Given the description of an element on the screen output the (x, y) to click on. 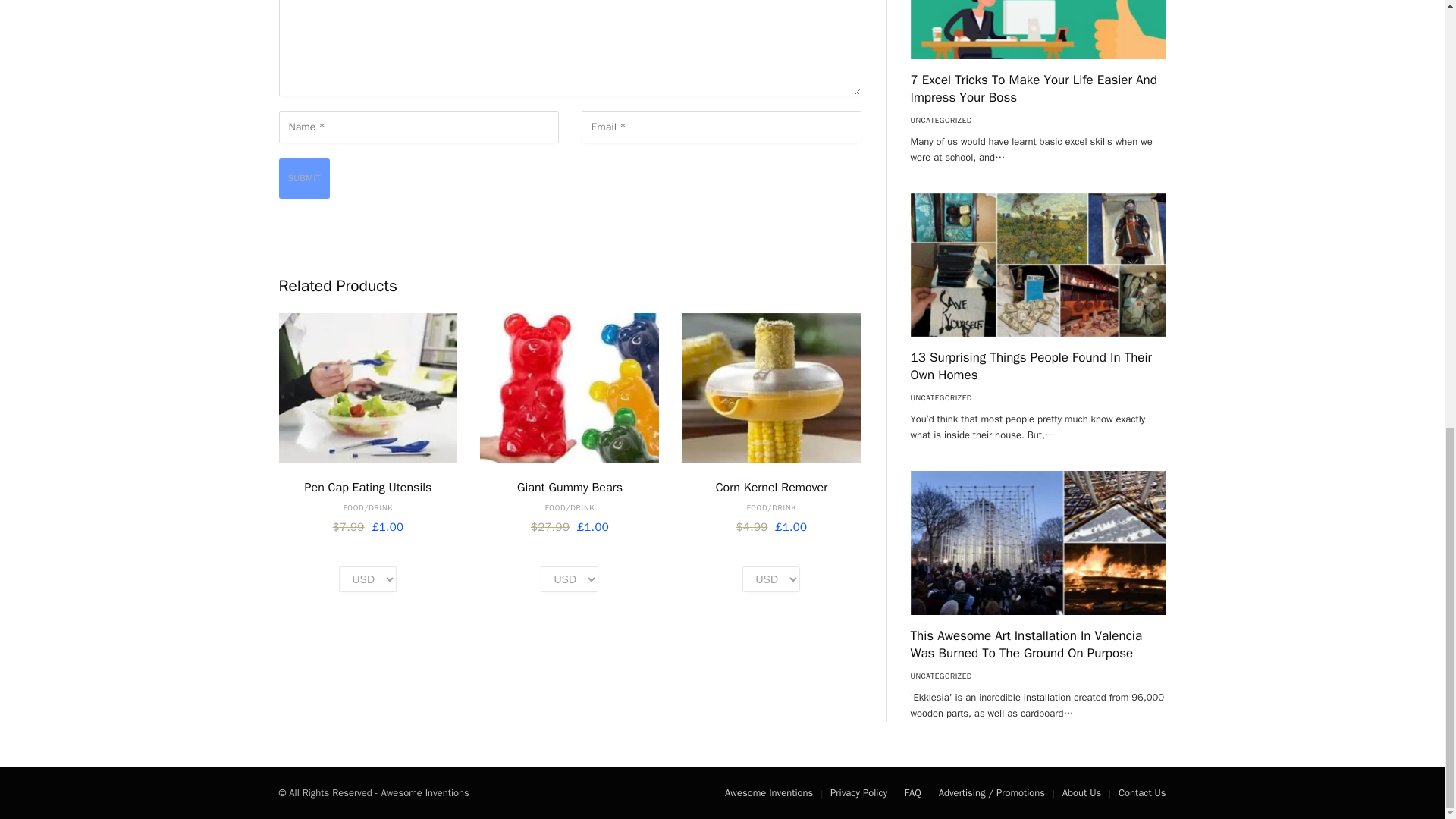
Select one (367, 579)
Select one (770, 579)
Submit (304, 178)
Select one (569, 579)
